Given the description of an element on the screen output the (x, y) to click on. 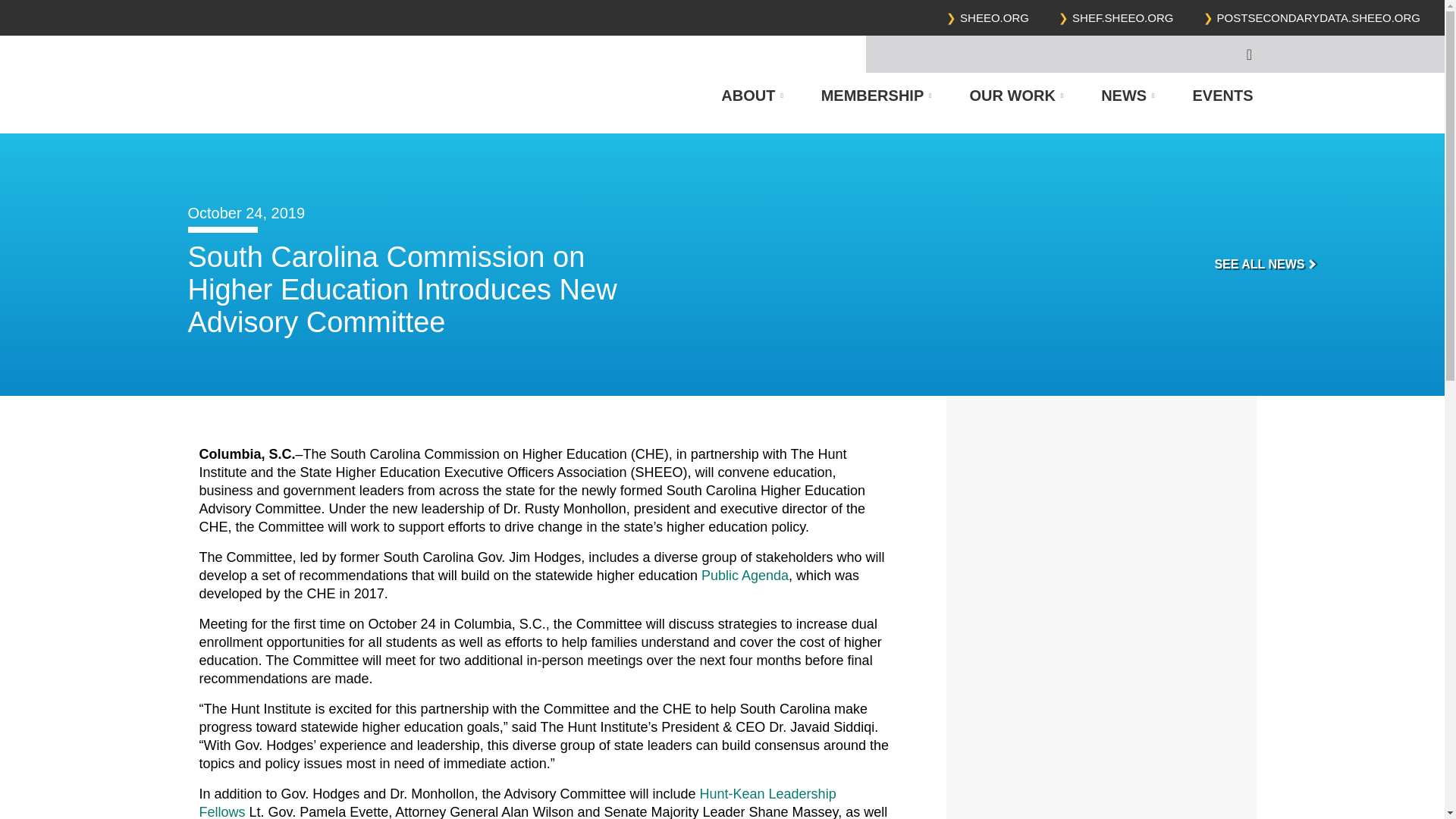
SHEF.SHEEO.ORG (1122, 18)
ABOUT (751, 95)
MEMBERSHIP (876, 95)
NEWS (1127, 95)
OUR WORK (1016, 95)
EVENTS (1212, 95)
POSTSECONDARYDATA.SHEEO.ORG (1319, 18)
SHEEO.ORG (994, 18)
